Given the description of an element on the screen output the (x, y) to click on. 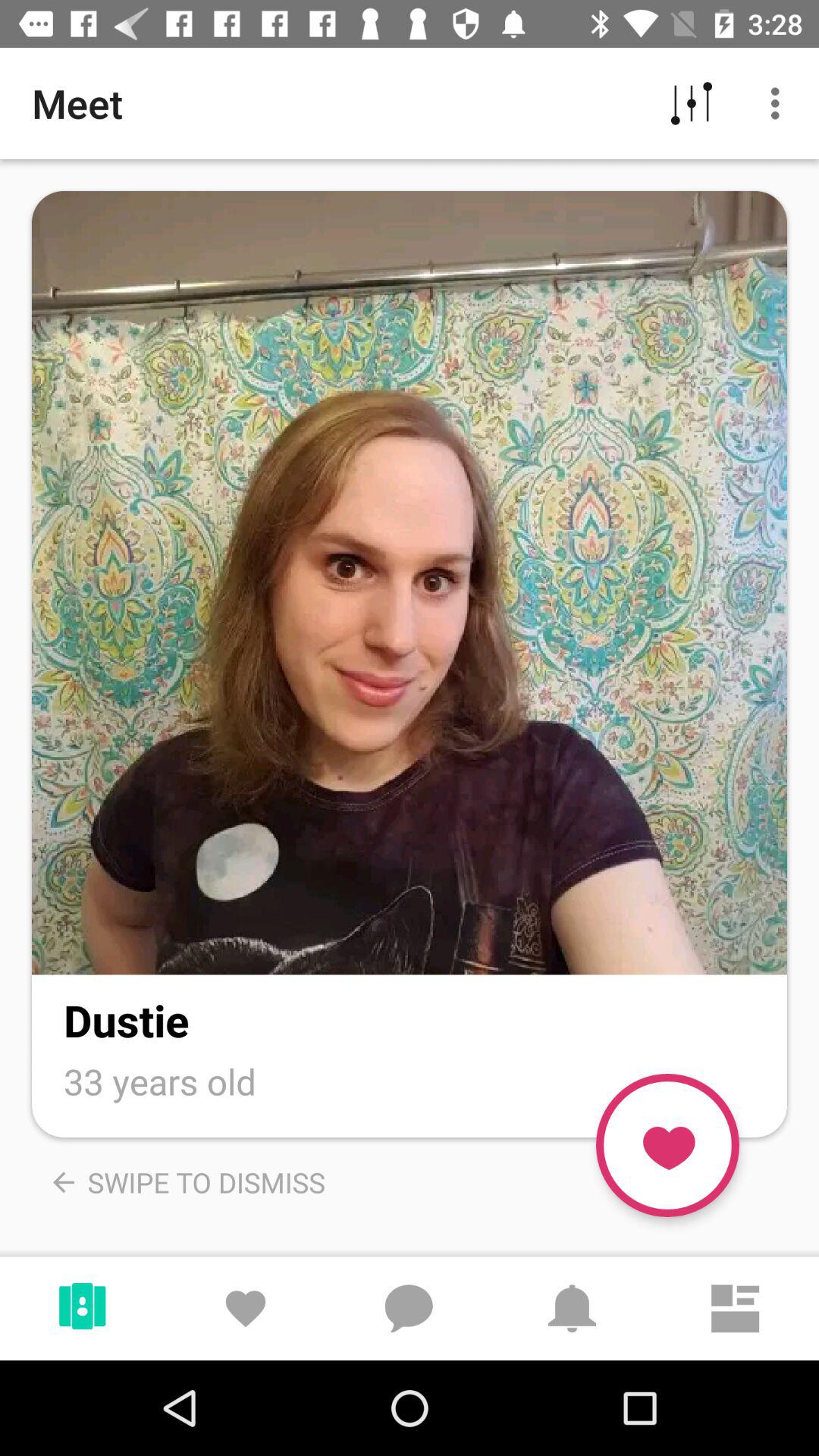
click the icon to the right of swipe to dismiss item (667, 1145)
